Given the description of an element on the screen output the (x, y) to click on. 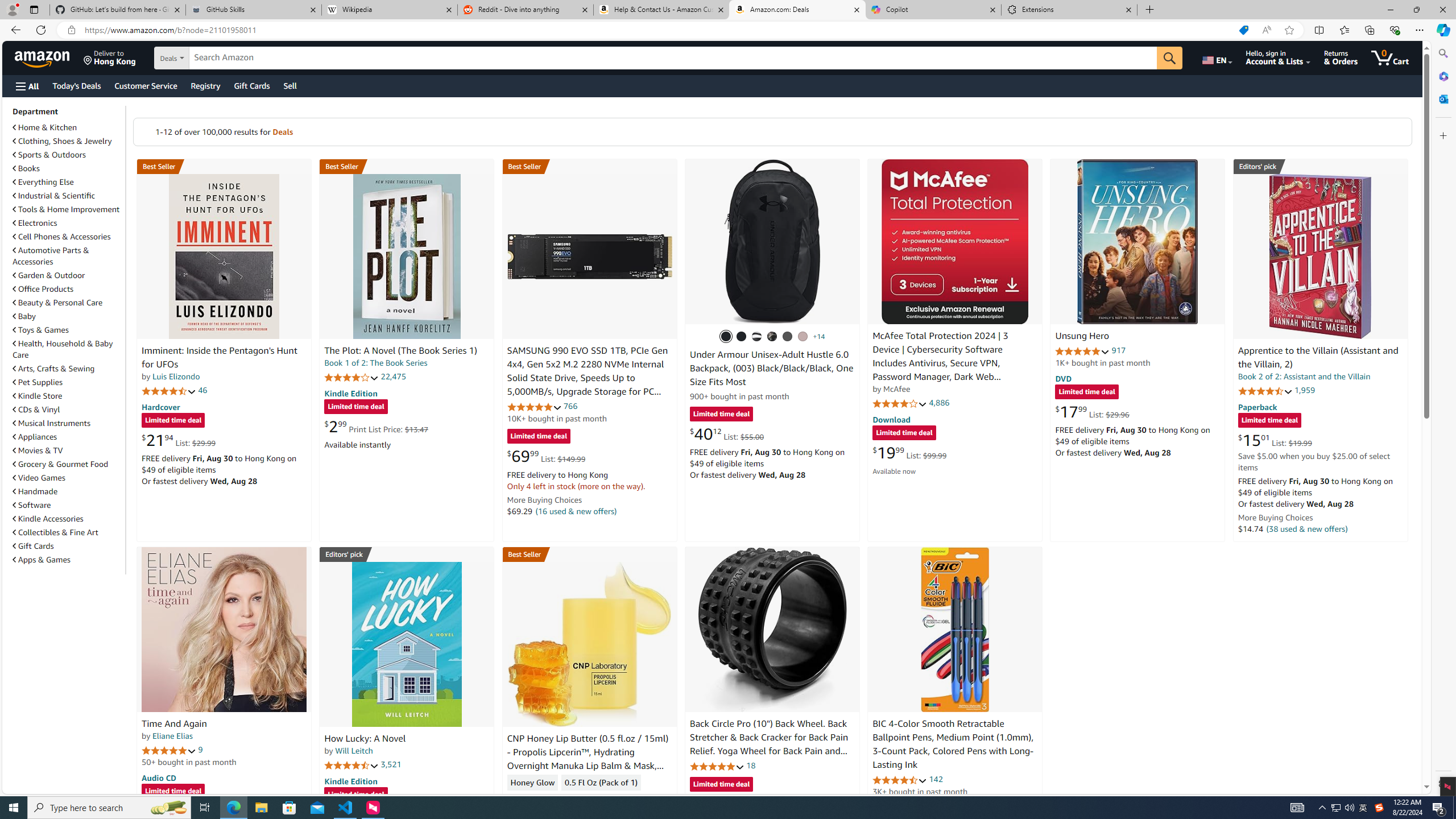
Tools & Home Improvement (66, 208)
Industrial & Scientific (67, 195)
18 (750, 764)
Help & Contact Us - Amazon Customer Service (660, 9)
Video Games (39, 477)
Kindle Accessories (67, 518)
9 (200, 749)
Best Seller in Lip Butters (589, 553)
Gift Cards (33, 545)
$2.99 Print List Price: $13.47 (376, 426)
The Plot: A Novel (The Book Series 1) (400, 351)
